Given the description of an element on the screen output the (x, y) to click on. 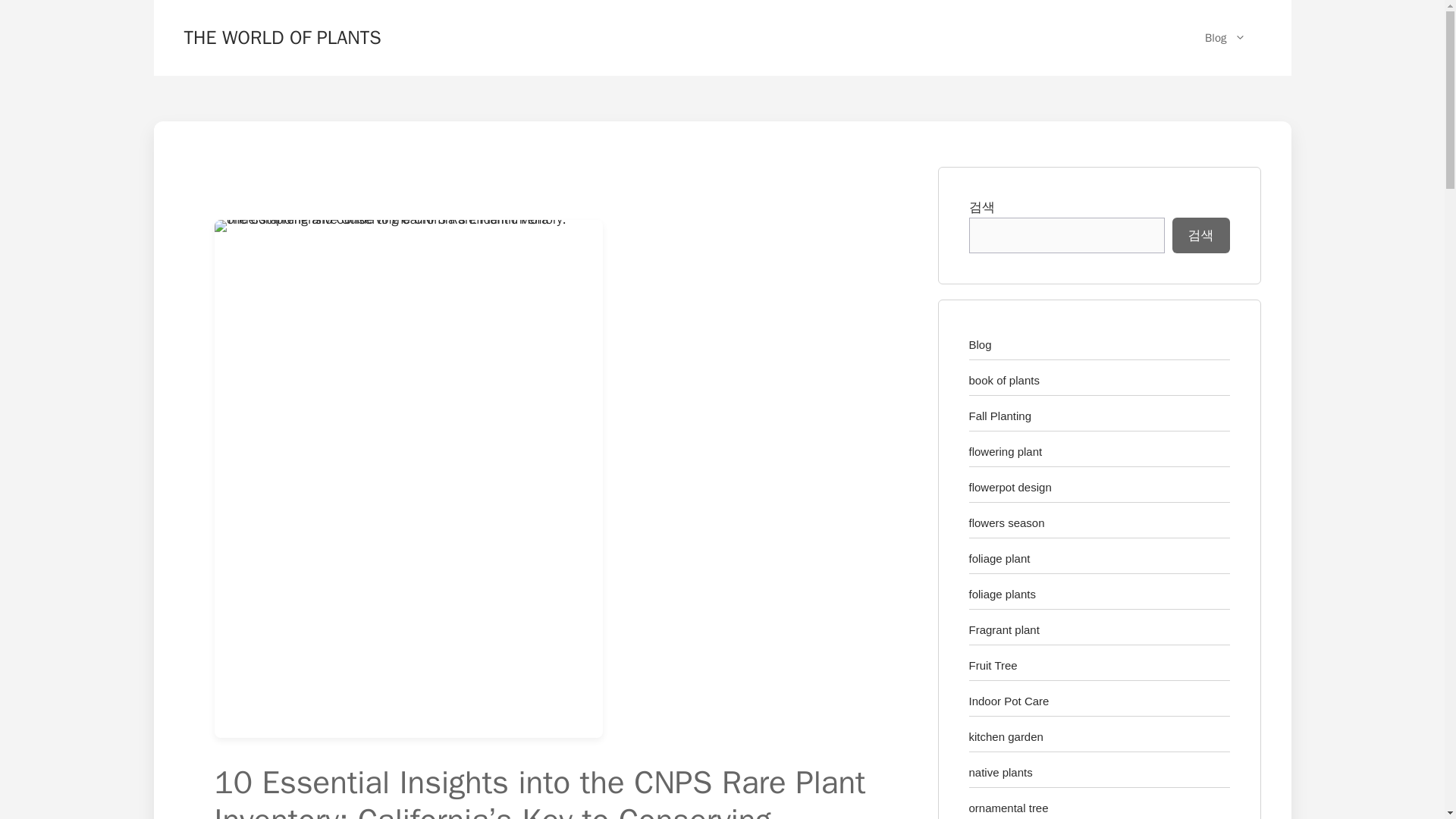
Blog (1224, 37)
flowers season (1007, 522)
Fall Planting (1000, 415)
Blog (980, 344)
THE WORLD OF PLANTS (281, 37)
flowerpot design (1010, 486)
flowering plant (1005, 451)
book of plants (1004, 379)
